Given the description of an element on the screen output the (x, y) to click on. 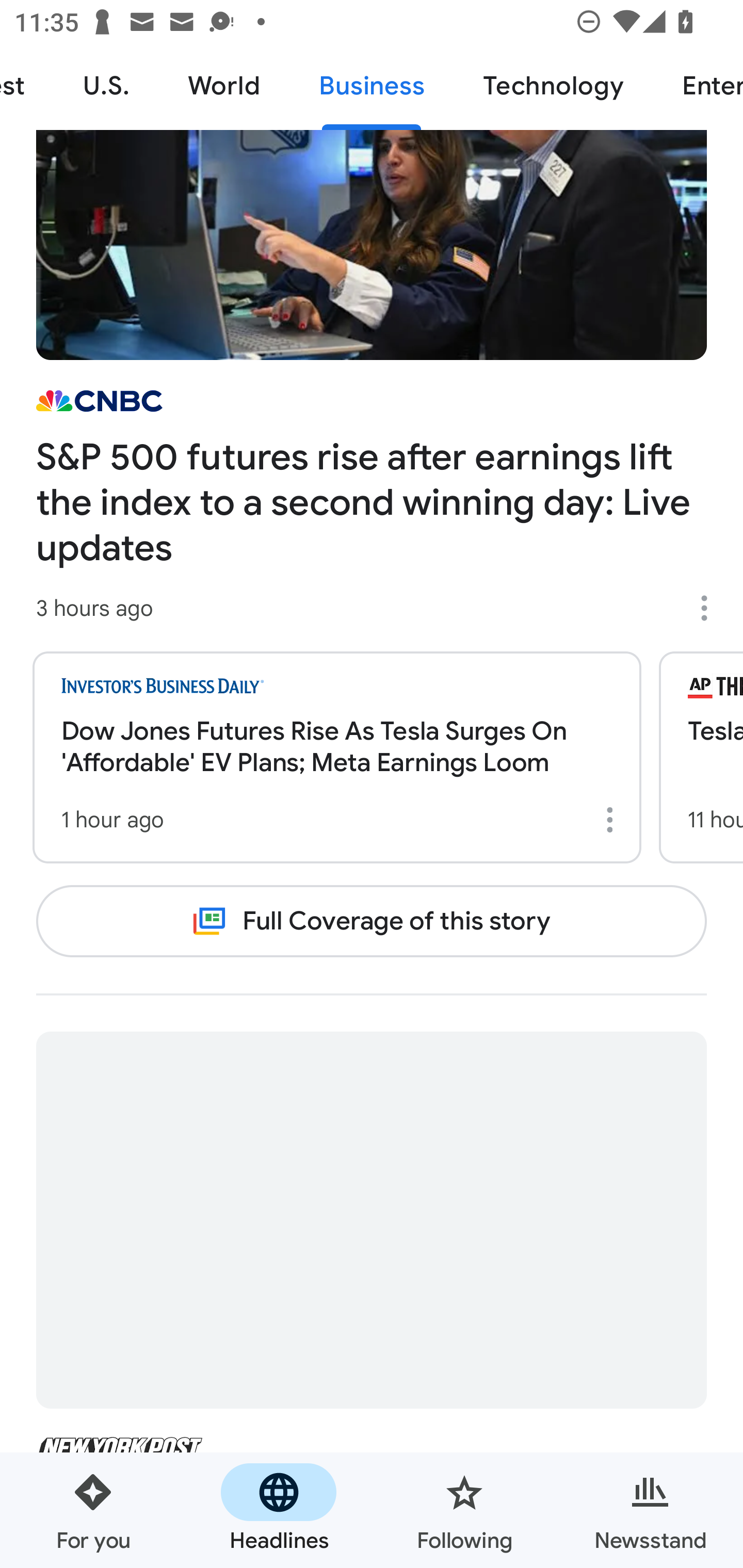
U.S. (106, 86)
World (224, 86)
Technology (552, 86)
More options (711, 608)
More options (613, 819)
Full Coverage of this story (371, 921)
For you (92, 1509)
Headlines (278, 1509)
Following (464, 1509)
Newsstand (650, 1509)
